Given the description of an element on the screen output the (x, y) to click on. 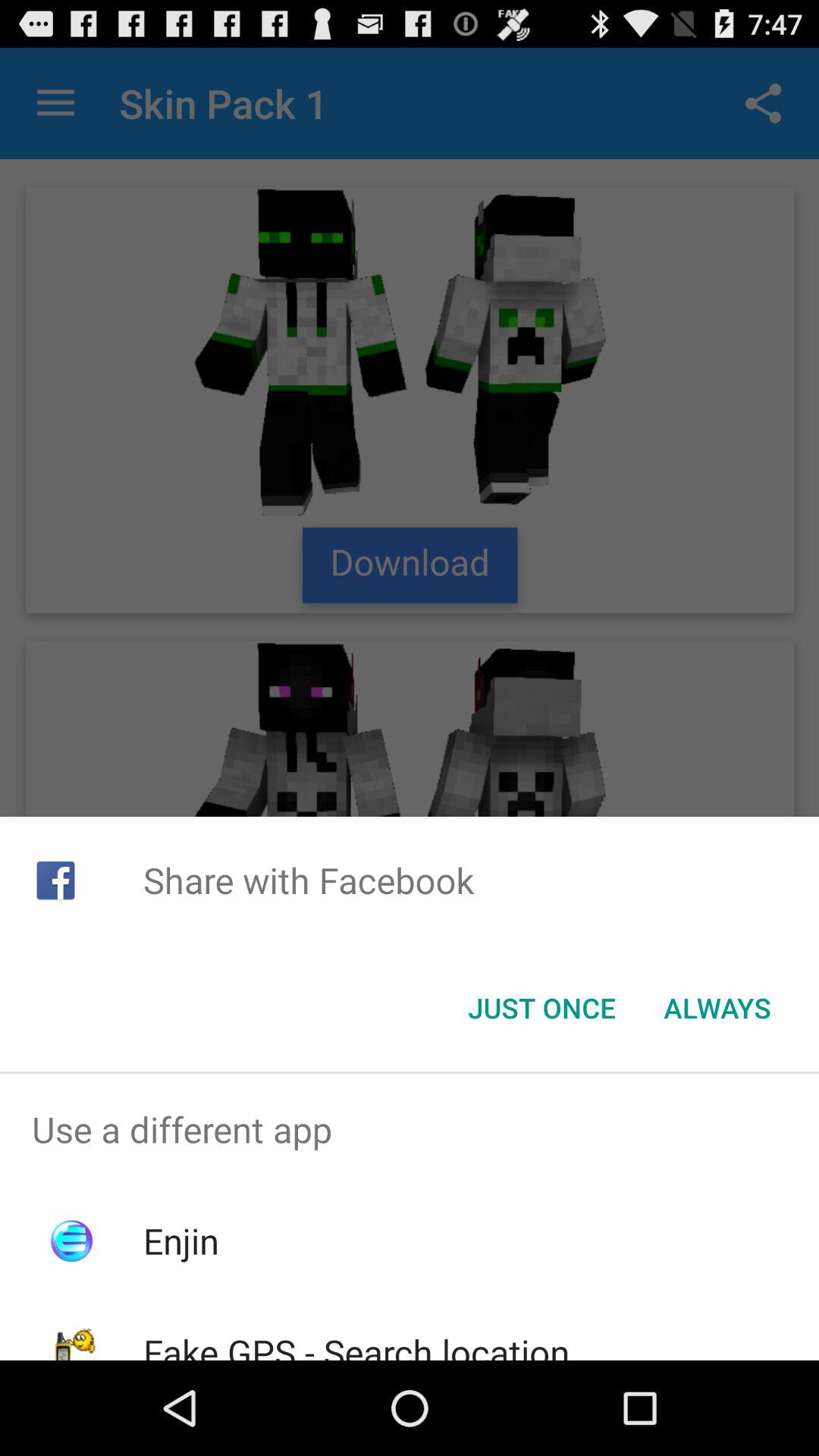
scroll to the just once icon (541, 1007)
